Given the description of an element on the screen output the (x, y) to click on. 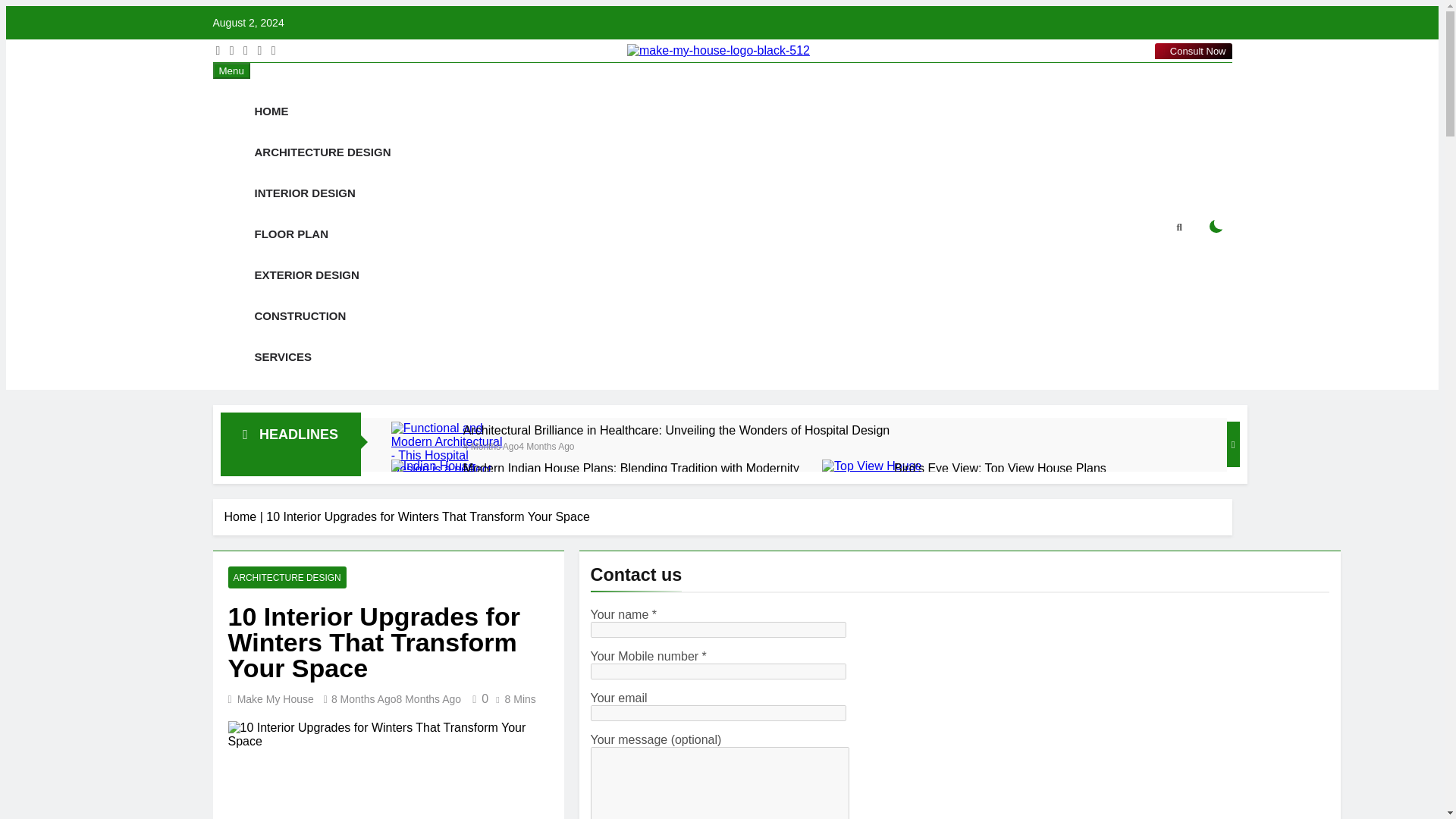
Modern Indian House Plans: Blending Tradition with Modernity (631, 468)
SERVICES (283, 356)
Modern Indian House Plans: Blending Tradition with Modernity (448, 516)
Menu (230, 70)
on (1216, 226)
INTERIOR DESIGN (304, 192)
FLOOR PLAN (291, 233)
Modern Indian House Plans: Blending Tradition with Modernity (631, 468)
